Given the description of an element on the screen output the (x, y) to click on. 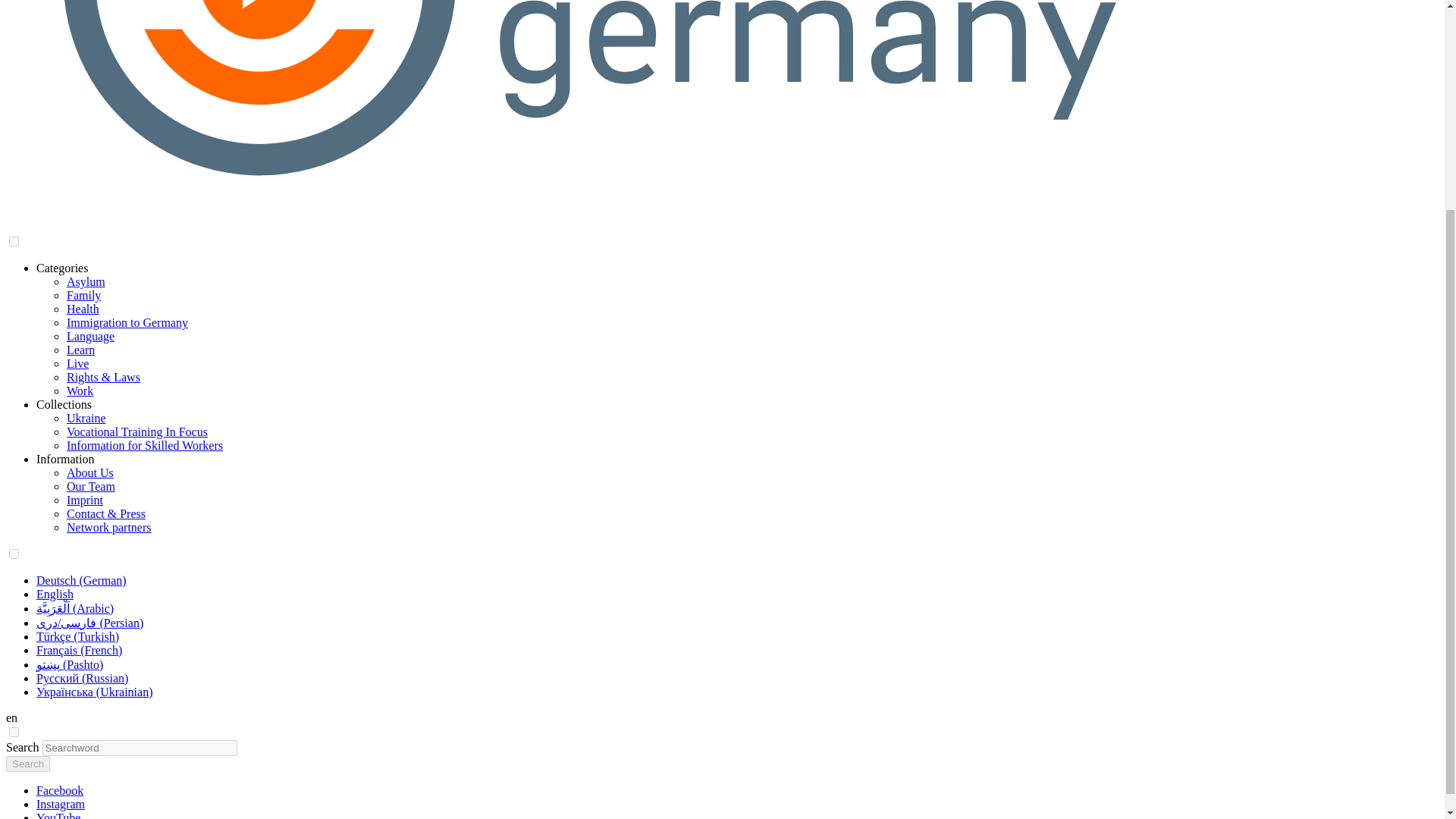
About Us (89, 472)
Language (90, 336)
on (13, 553)
Facebook (59, 789)
Network partners (108, 526)
Health (82, 308)
Instagram (60, 803)
Ukraine (86, 418)
Information for Skilled Workers (144, 445)
Live (77, 363)
